Given the description of an element on the screen output the (x, y) to click on. 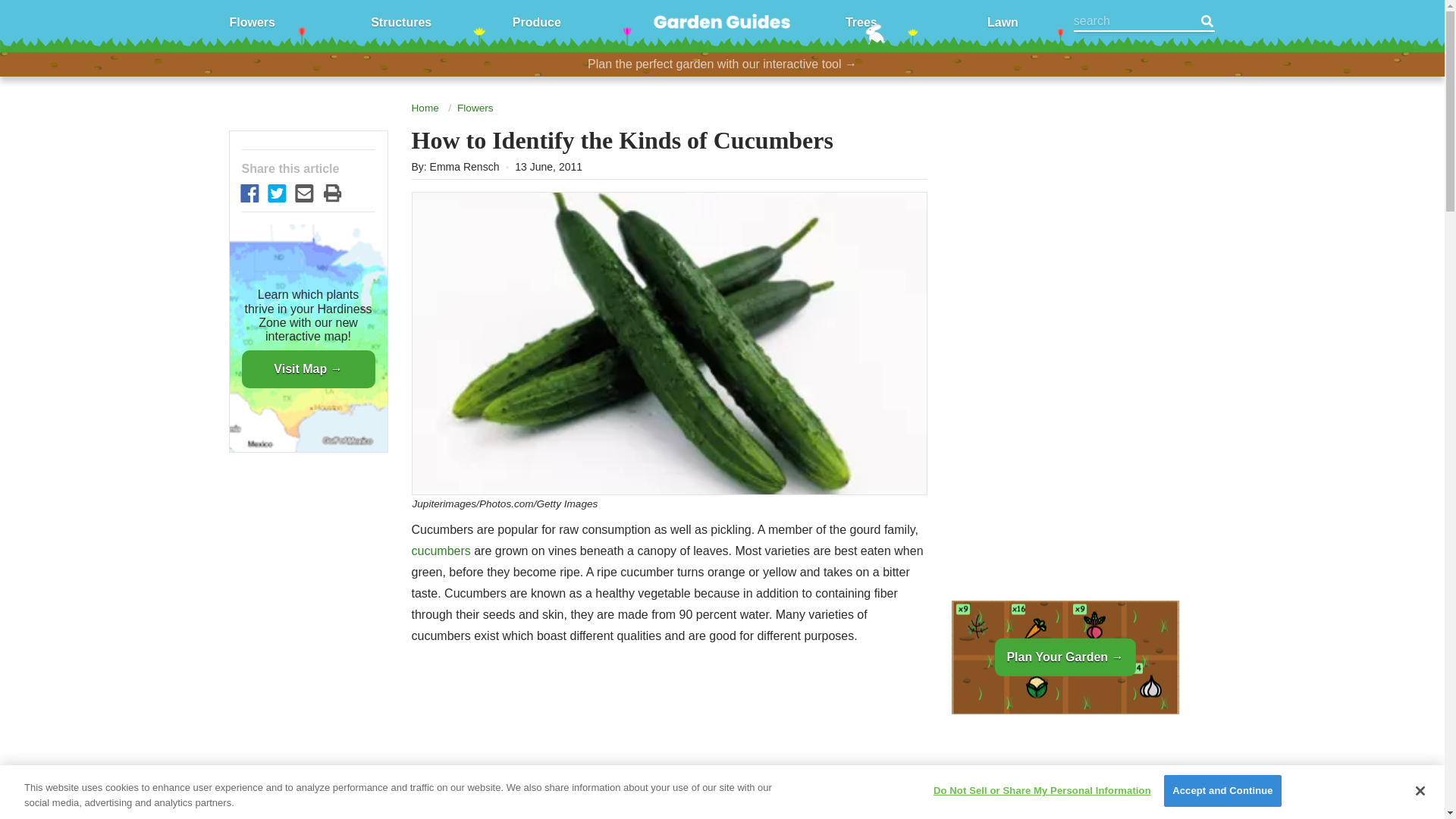
Lawn (1002, 21)
3rd party ad content (1063, 227)
Flowers (475, 107)
3rd party ad content (1063, 772)
Produce (536, 21)
Home (424, 107)
cucumbers (440, 550)
Structures (400, 21)
Flowers (251, 21)
3rd party ad content (668, 744)
Trees (861, 21)
